Given the description of an element on the screen output the (x, y) to click on. 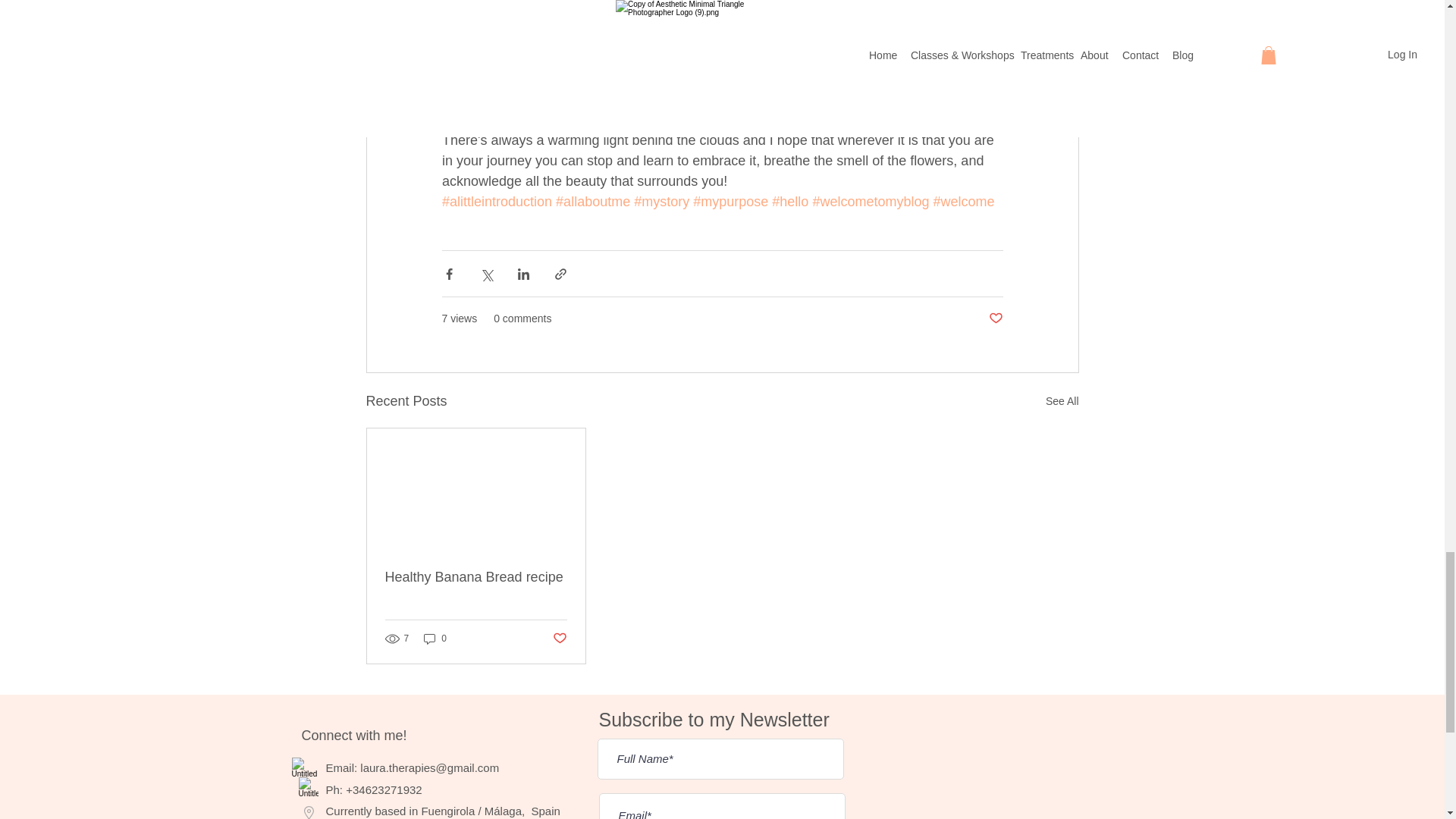
0 (435, 638)
See All (1061, 401)
Post not marked as liked (995, 318)
Post not marked as liked (558, 638)
Healthy Banana Bread recipe (476, 577)
